Given the description of an element on the screen output the (x, y) to click on. 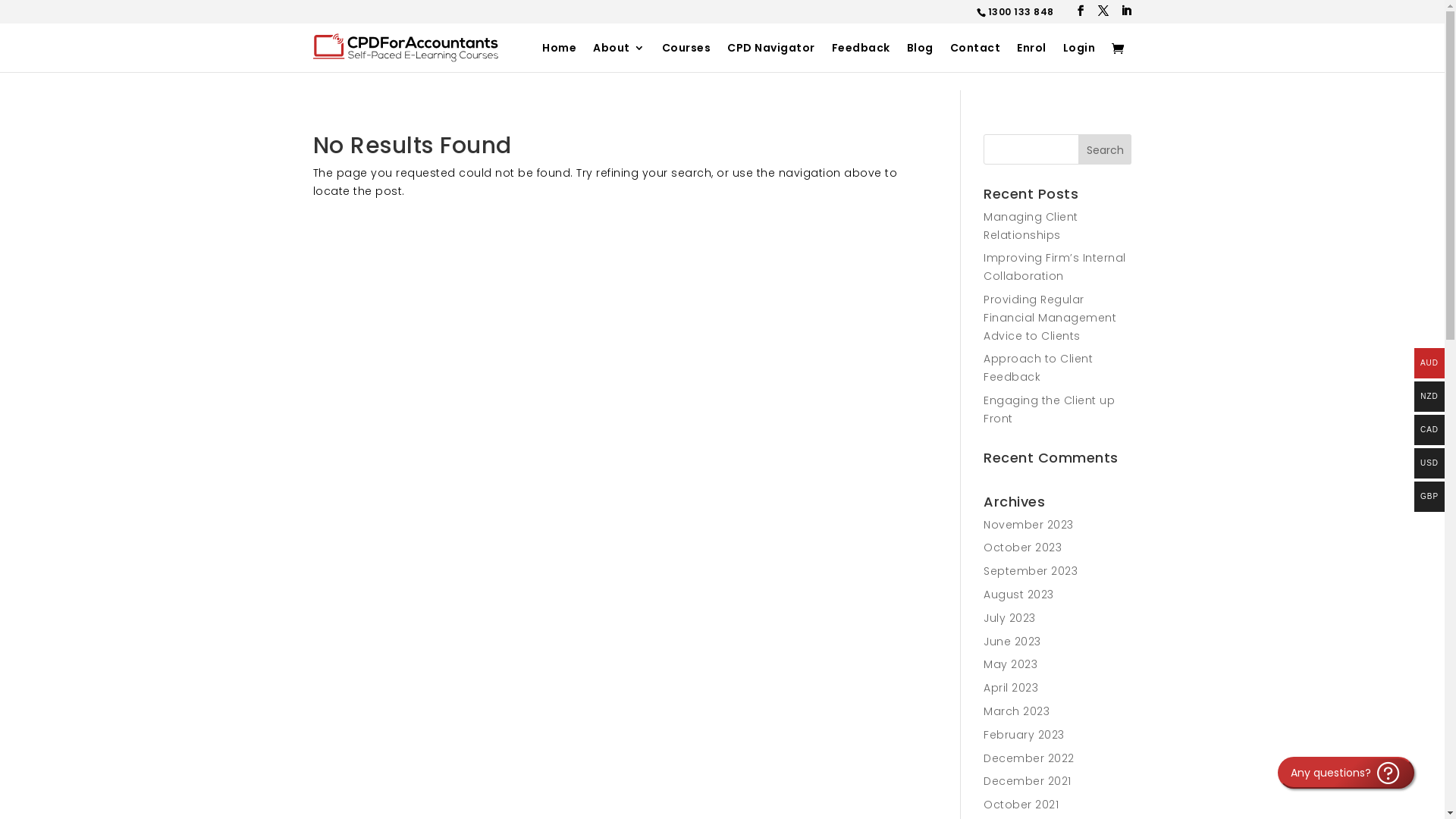
Providing Regular Financial Management Advice to Clients Element type: text (1049, 317)
Managing Client Relationships Element type: text (1030, 225)
Approach to Client Feedback Element type: text (1037, 367)
Blog Element type: text (919, 57)
Search Element type: text (1105, 149)
April 2023 Element type: text (1010, 687)
October 2021 Element type: text (1020, 804)
Contact Element type: text (974, 57)
About Element type: text (619, 57)
1300 133 848 Element type: text (1019, 11)
February 2023 Element type: text (1023, 734)
November 2023 Element type: text (1028, 524)
Feedback Element type: text (860, 57)
December 2022 Element type: text (1028, 757)
September 2023 Element type: text (1030, 570)
Home Element type: text (559, 57)
Login Element type: text (1079, 57)
June 2023 Element type: text (1012, 641)
CPD Navigator Element type: text (771, 57)
July 2023 Element type: text (1009, 617)
March 2023 Element type: text (1016, 710)
May 2023 Element type: text (1010, 663)
Enrol Element type: text (1031, 57)
Courses Element type: text (685, 57)
Engaging the Client up Front Element type: text (1048, 409)
August 2023 Element type: text (1018, 594)
December 2021 Element type: text (1027, 780)
October 2023 Element type: text (1022, 547)
